Given the description of an element on the screen output the (x, y) to click on. 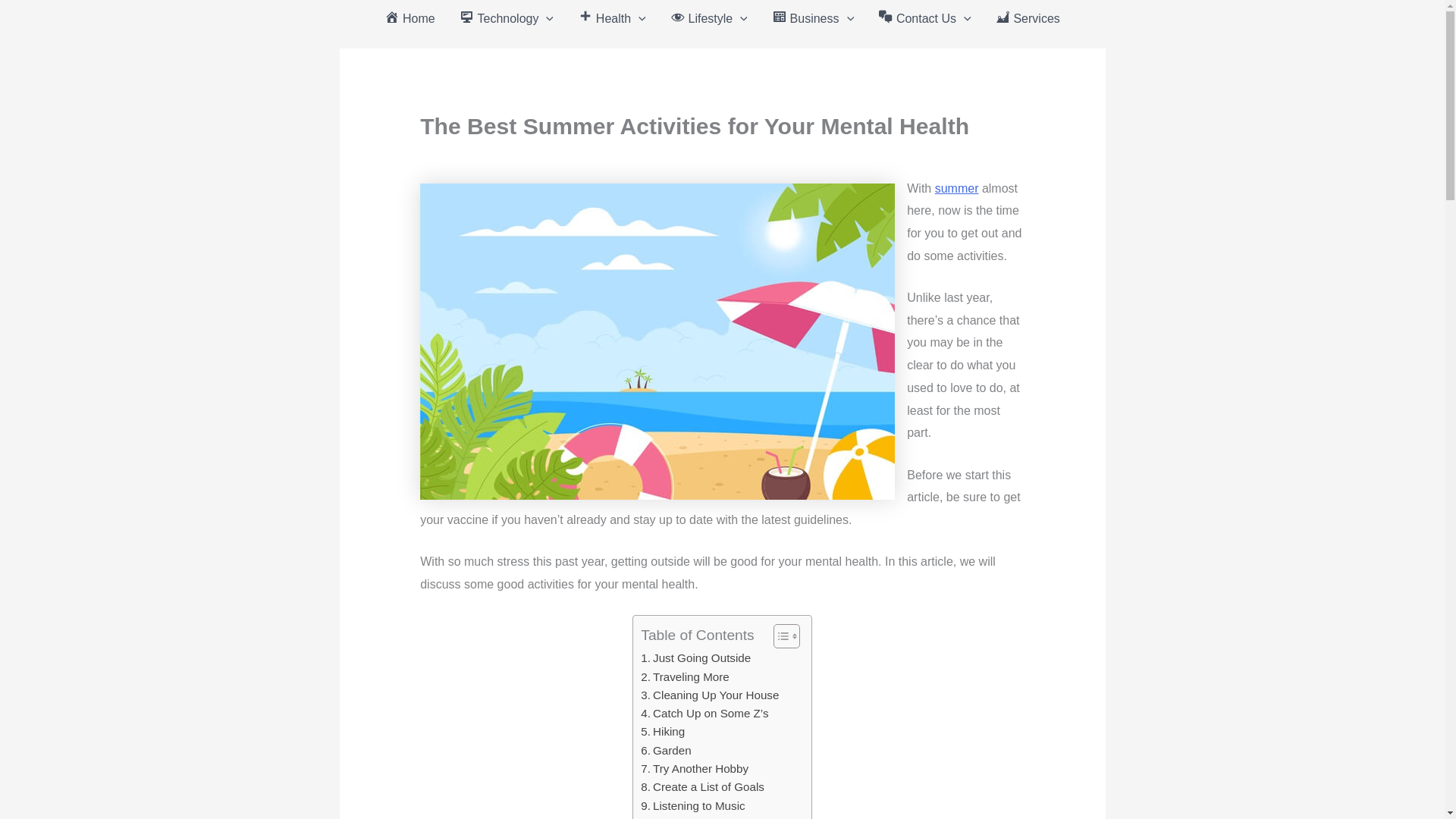
Business (813, 18)
Home (409, 18)
Services (1027, 18)
Try Another Hobby (694, 769)
Create a List of Goals (702, 787)
Traveling More (684, 677)
Hiking (662, 731)
Cleaning Up Your House (709, 695)
Technology (506, 18)
Lifestyle (709, 18)
Health (612, 18)
Making New Friends (702, 816)
Listening to Music (692, 805)
Garden (665, 751)
Just Going Outside (695, 658)
